Given the description of an element on the screen output the (x, y) to click on. 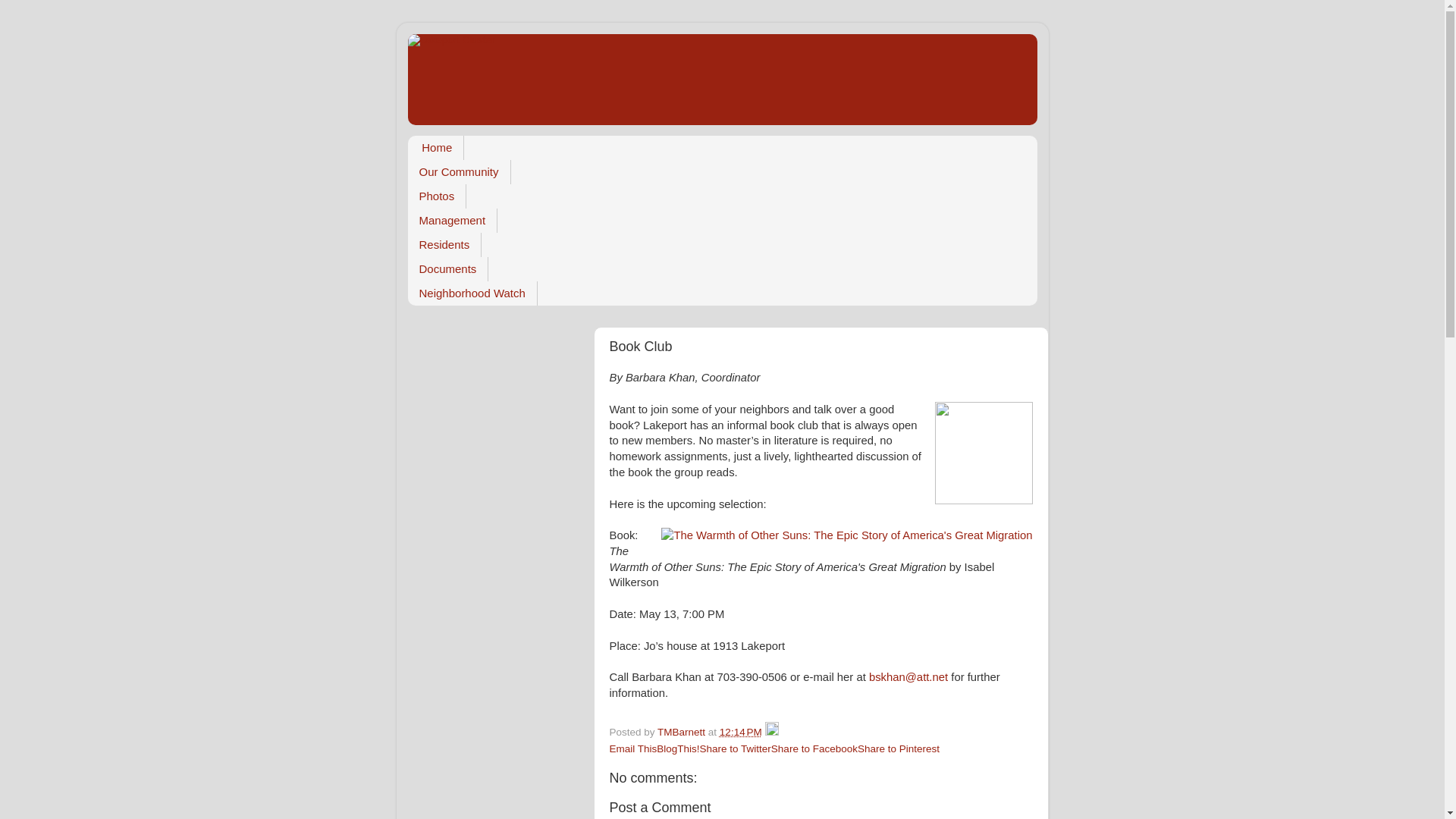
permanent link (740, 731)
Share to Facebook (814, 748)
Our Community (459, 170)
Share to Twitter (735, 748)
Email This (634, 748)
Share to Twitter (735, 748)
Home (435, 146)
Email This (634, 748)
Share to Facebook (814, 748)
TMBarnett (682, 731)
BlogThis! (677, 748)
author profile (682, 731)
Residents (444, 243)
Edit Post (771, 731)
